Given the description of an element on the screen output the (x, y) to click on. 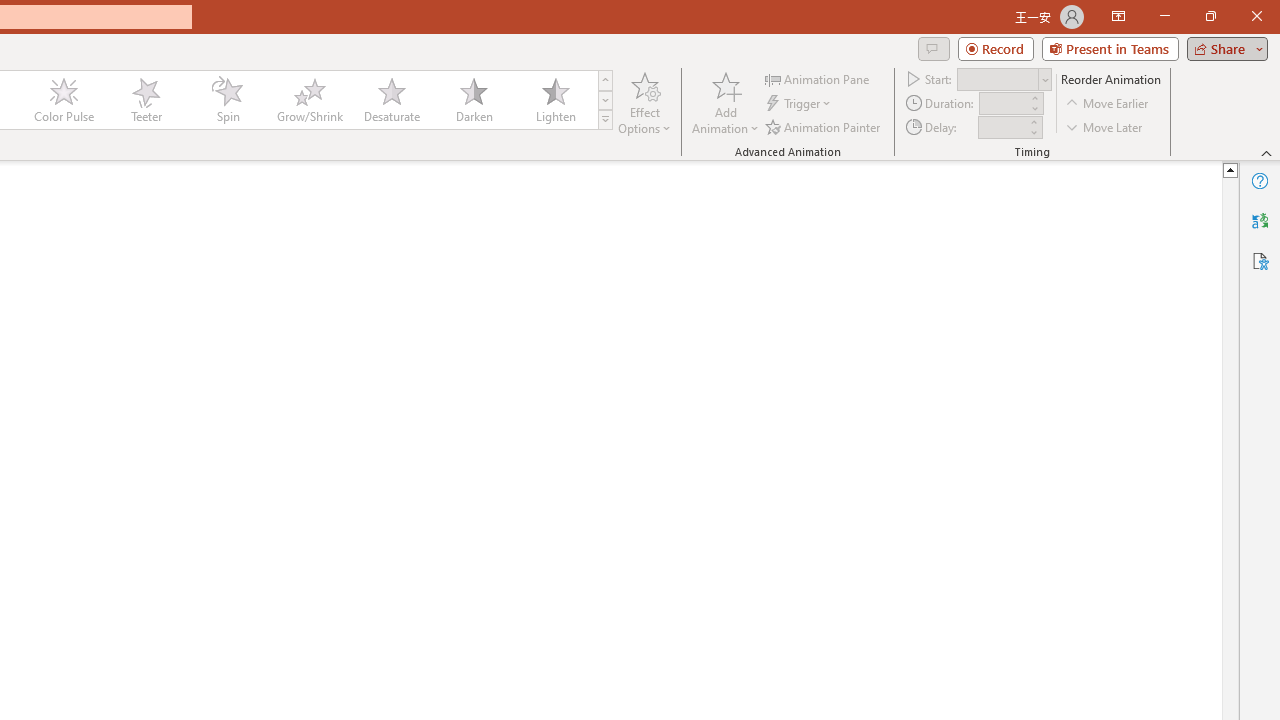
Animation Duration (1003, 103)
Darken (473, 100)
Add Animation (725, 102)
Move Later (1105, 126)
Lighten (555, 100)
